Given the description of an element on the screen output the (x, y) to click on. 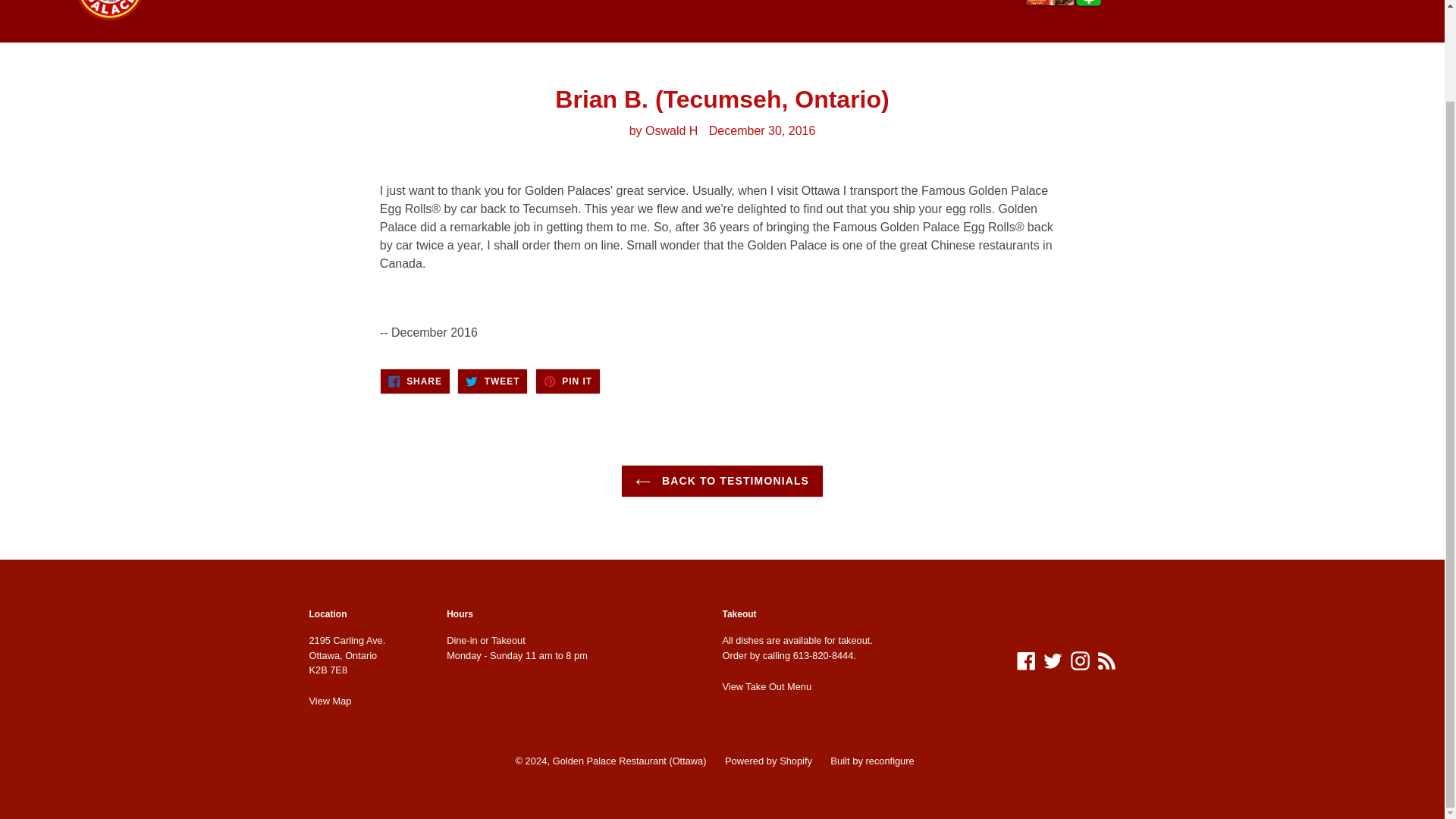
BACK TO TESTIMONIALS (722, 481)
Submit (492, 380)
Pin on Pinterest (766, 686)
Instagram (567, 380)
View Map (1080, 660)
Twitter (330, 700)
Tweet on Twitter (1052, 660)
RSS (567, 380)
Facebook (492, 380)
Share on Facebook (1401, 1)
